Given the description of an element on the screen output the (x, y) to click on. 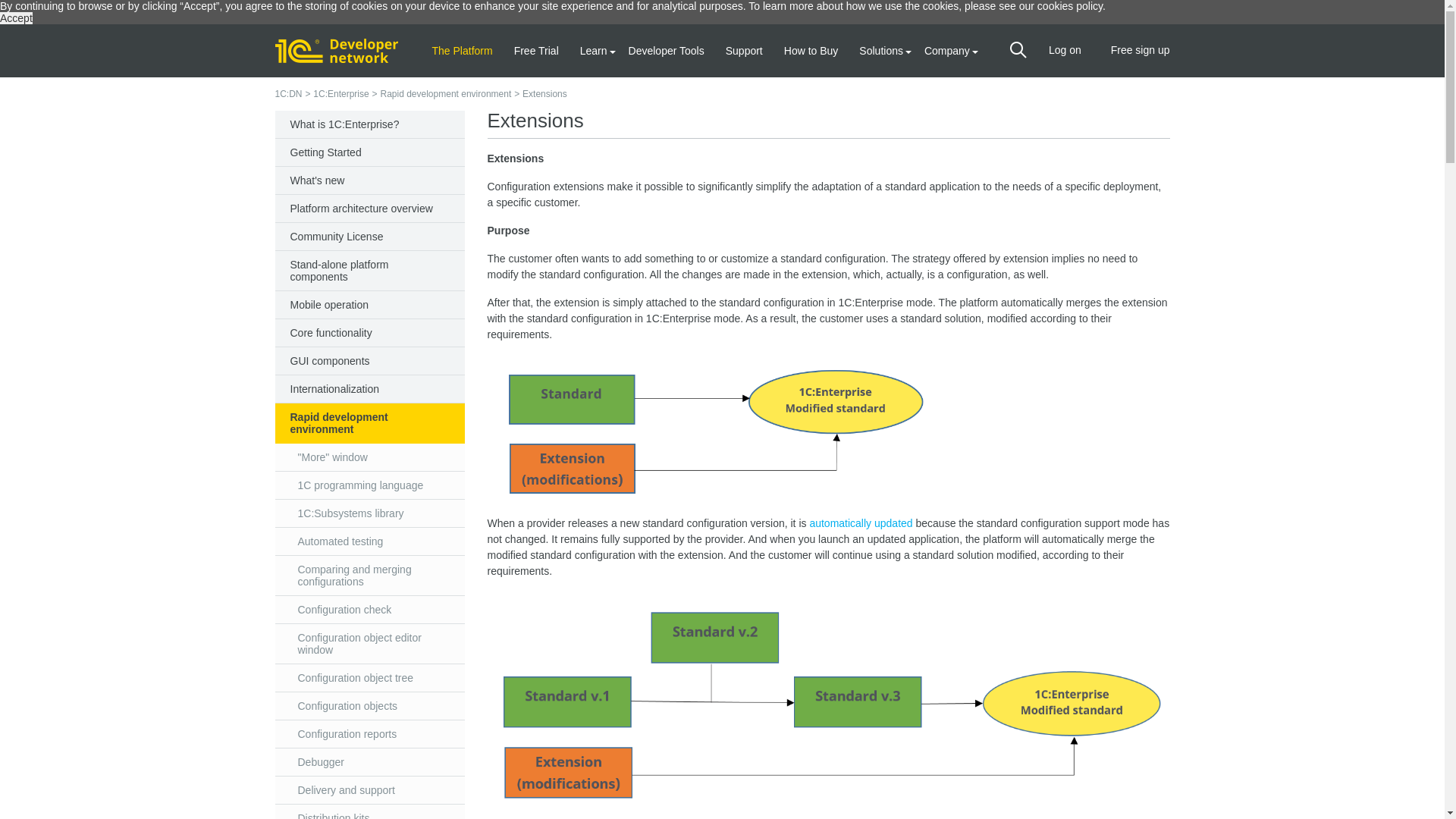
Log on (1064, 50)
How to Buy (811, 50)
Free Trial (536, 50)
What's new (369, 180)
Solutions (880, 50)
cookies policy. (1070, 6)
1C:Enterprise (340, 93)
The Platform (462, 50)
Rapid development environment (445, 93)
Getting Started (369, 152)
Accept (16, 18)
Learn (593, 50)
Free sign up (1140, 50)
1C:DN (288, 93)
Support (743, 50)
